Given the description of an element on the screen output the (x, y) to click on. 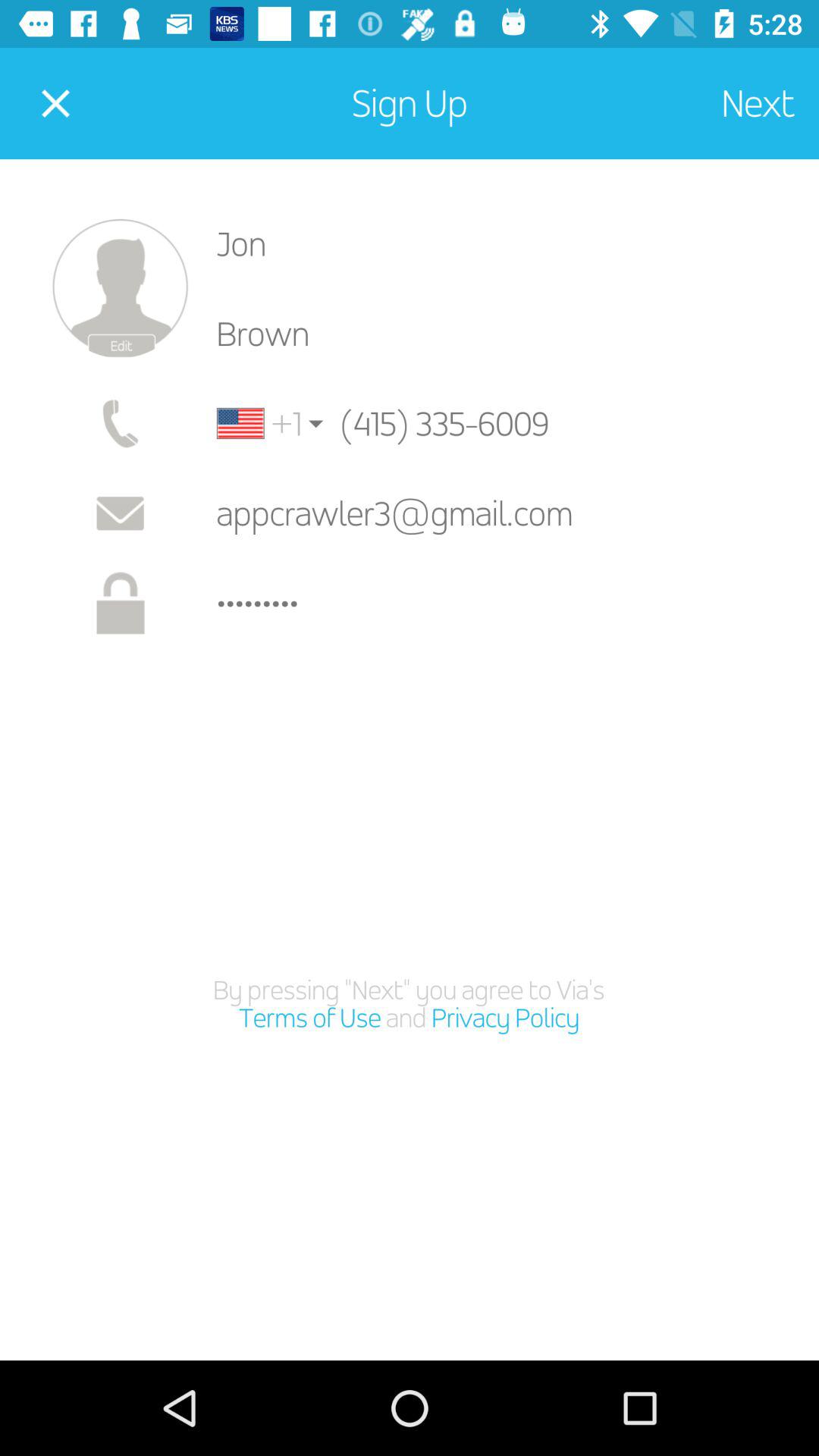
turn on item next to sign up icon (55, 103)
